Given the description of an element on the screen output the (x, y) to click on. 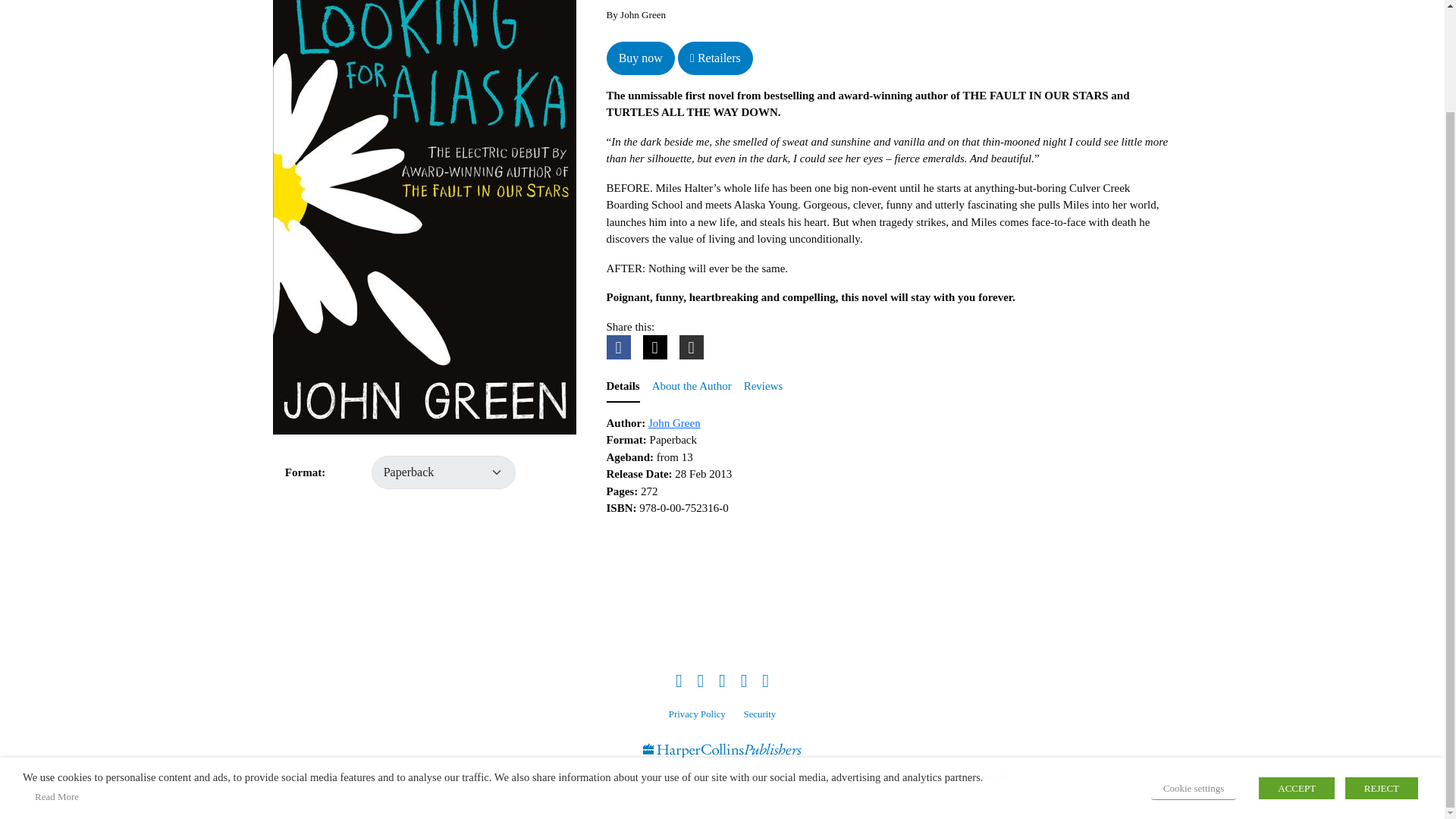
Buy now (641, 57)
About the Author (692, 386)
Details (623, 386)
Reviews (763, 386)
Retailers (715, 57)
John Green (673, 422)
